Given the description of an element on the screen output the (x, y) to click on. 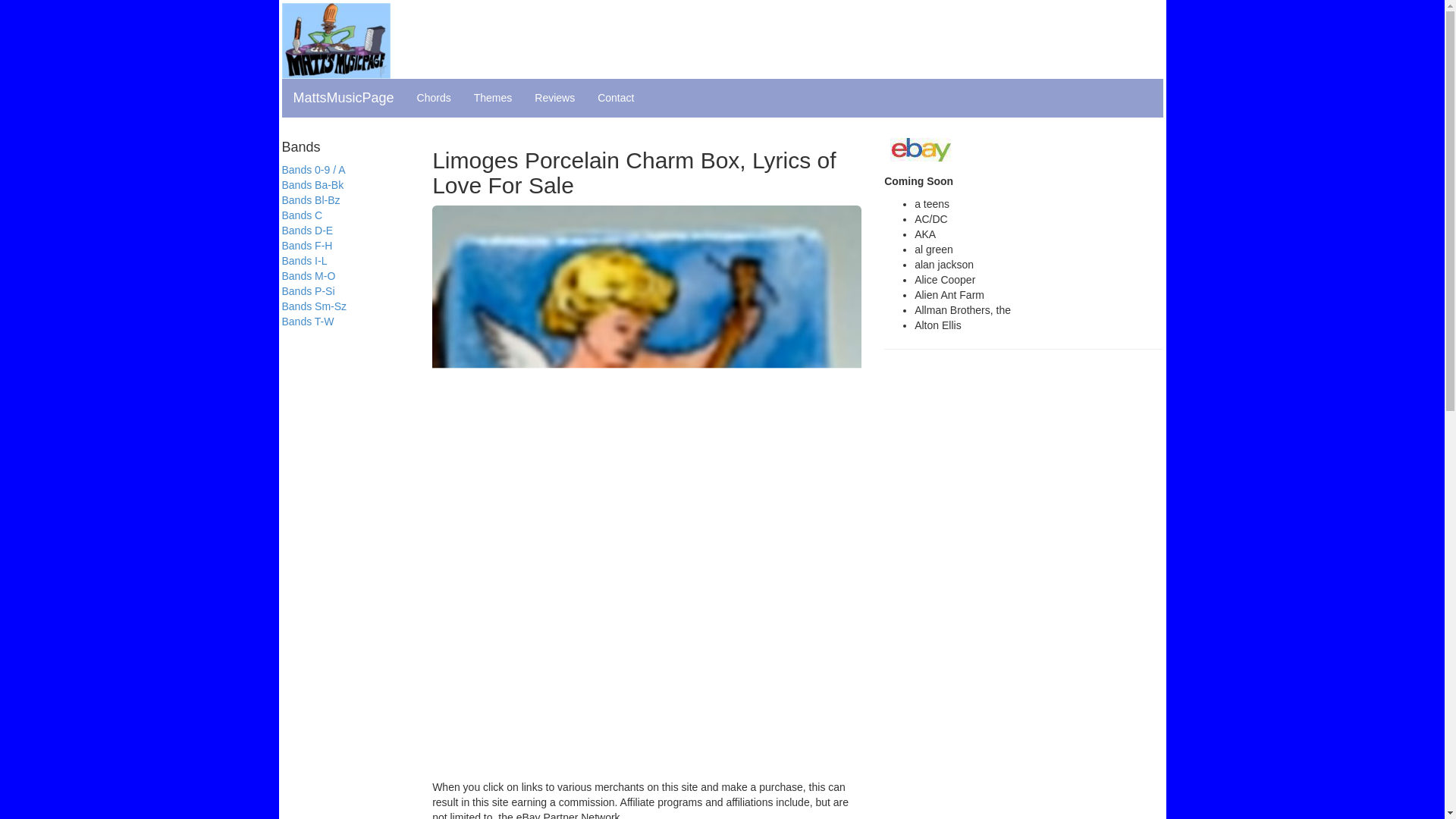
Bands Ba-Bk (312, 184)
Bands P-Si (308, 291)
Bands Sm-Sz (314, 306)
Bands M-O (309, 275)
Chords (434, 97)
MattsMusicPage (344, 97)
Contact (615, 97)
Bands D-E (307, 230)
Bands T-W (308, 321)
Bands C (302, 215)
